Given the description of an element on the screen output the (x, y) to click on. 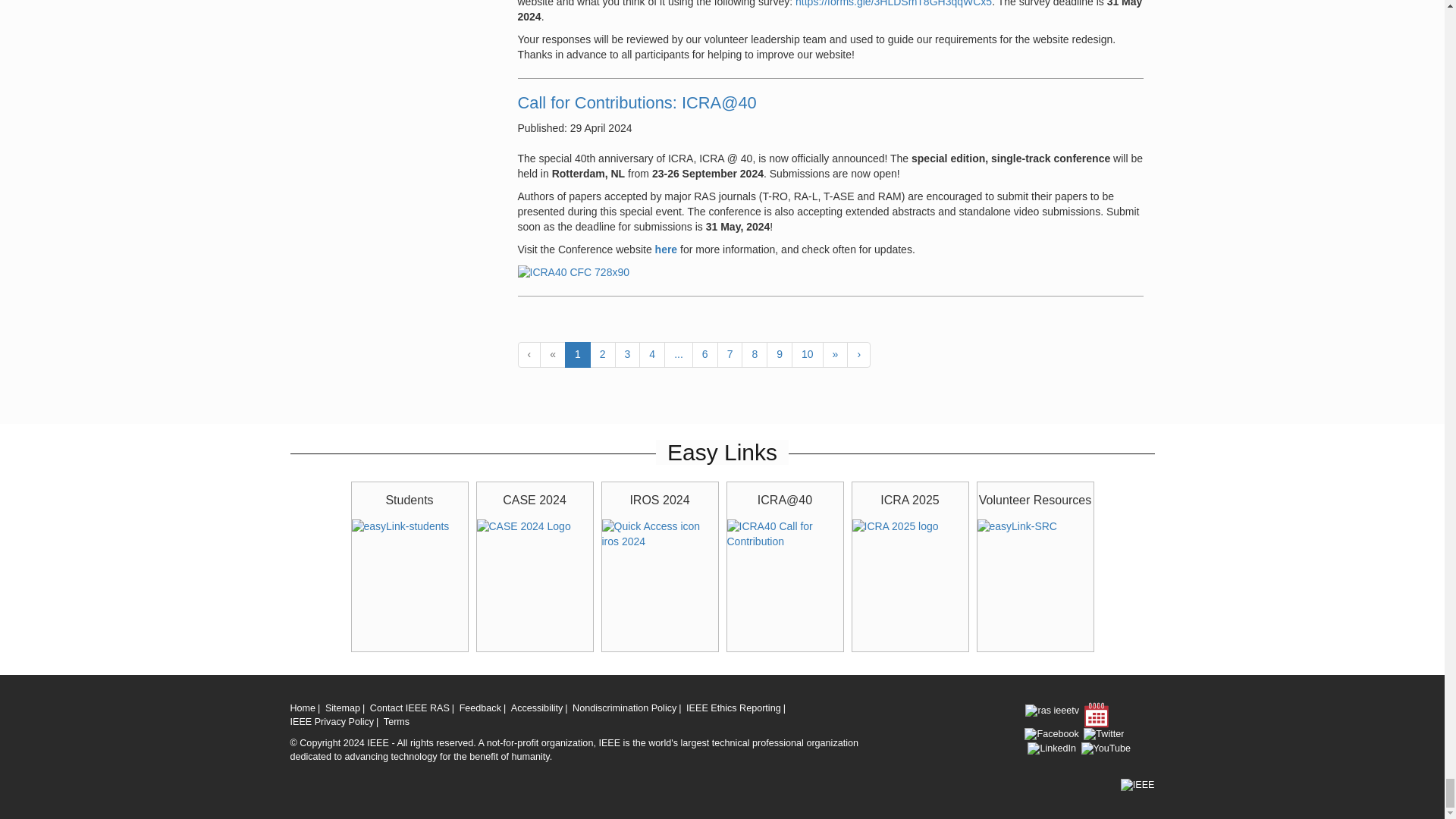
5 (678, 354)
10 (808, 354)
3 (627, 354)
6 (705, 354)
8 (754, 354)
7 (729, 354)
2 (602, 354)
9 (779, 354)
4 (652, 354)
